Given the description of an element on the screen output the (x, y) to click on. 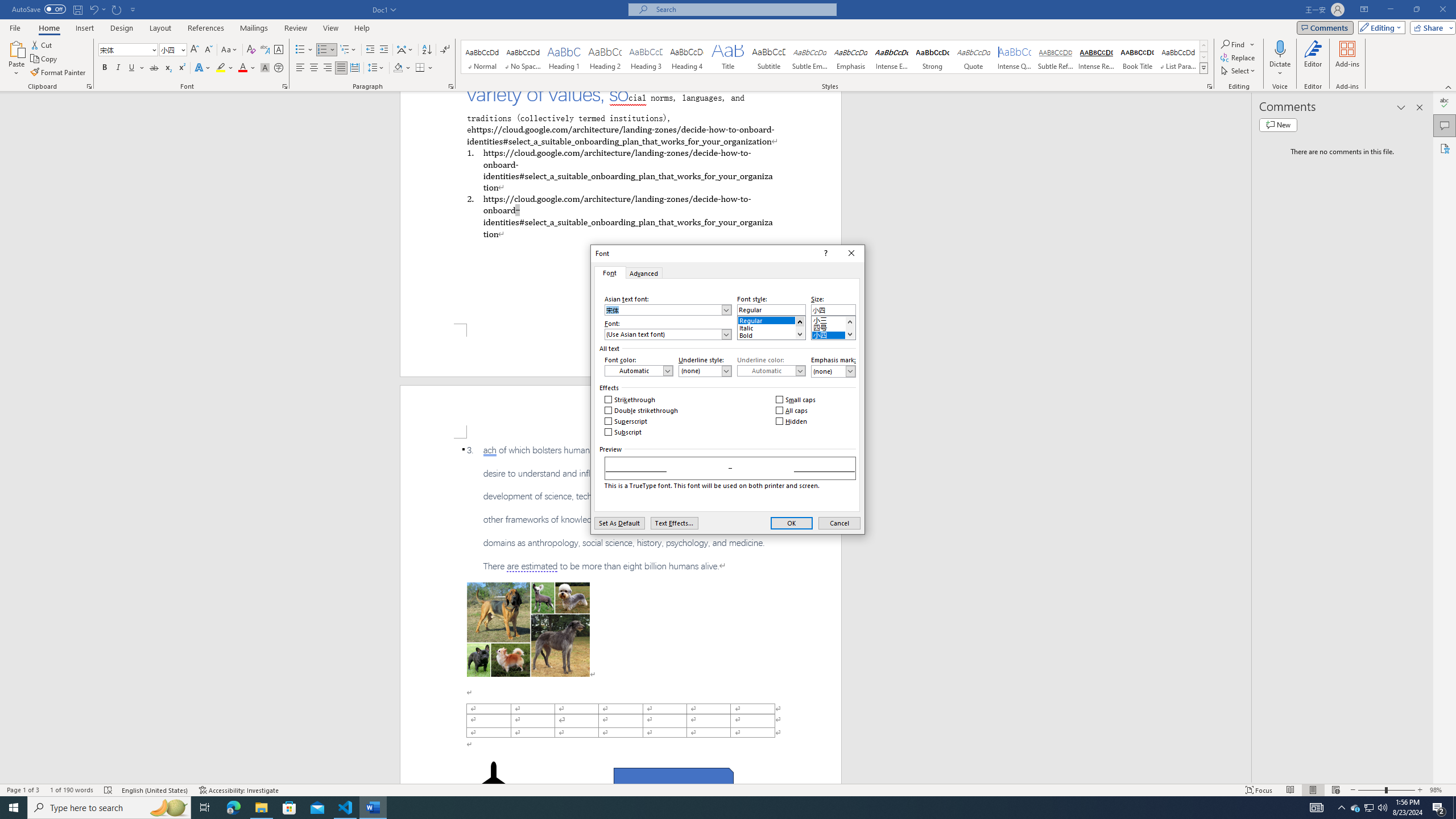
Align Left (300, 67)
Microsoft Store (289, 807)
Editing (1379, 27)
Bold (771, 333)
Format Painter (58, 72)
Emphasis mark: (833, 371)
Start (13, 807)
Shrink Font (208, 49)
Undo Apply Quick Style (96, 9)
Styles (1203, 67)
